Given the description of an element on the screen output the (x, y) to click on. 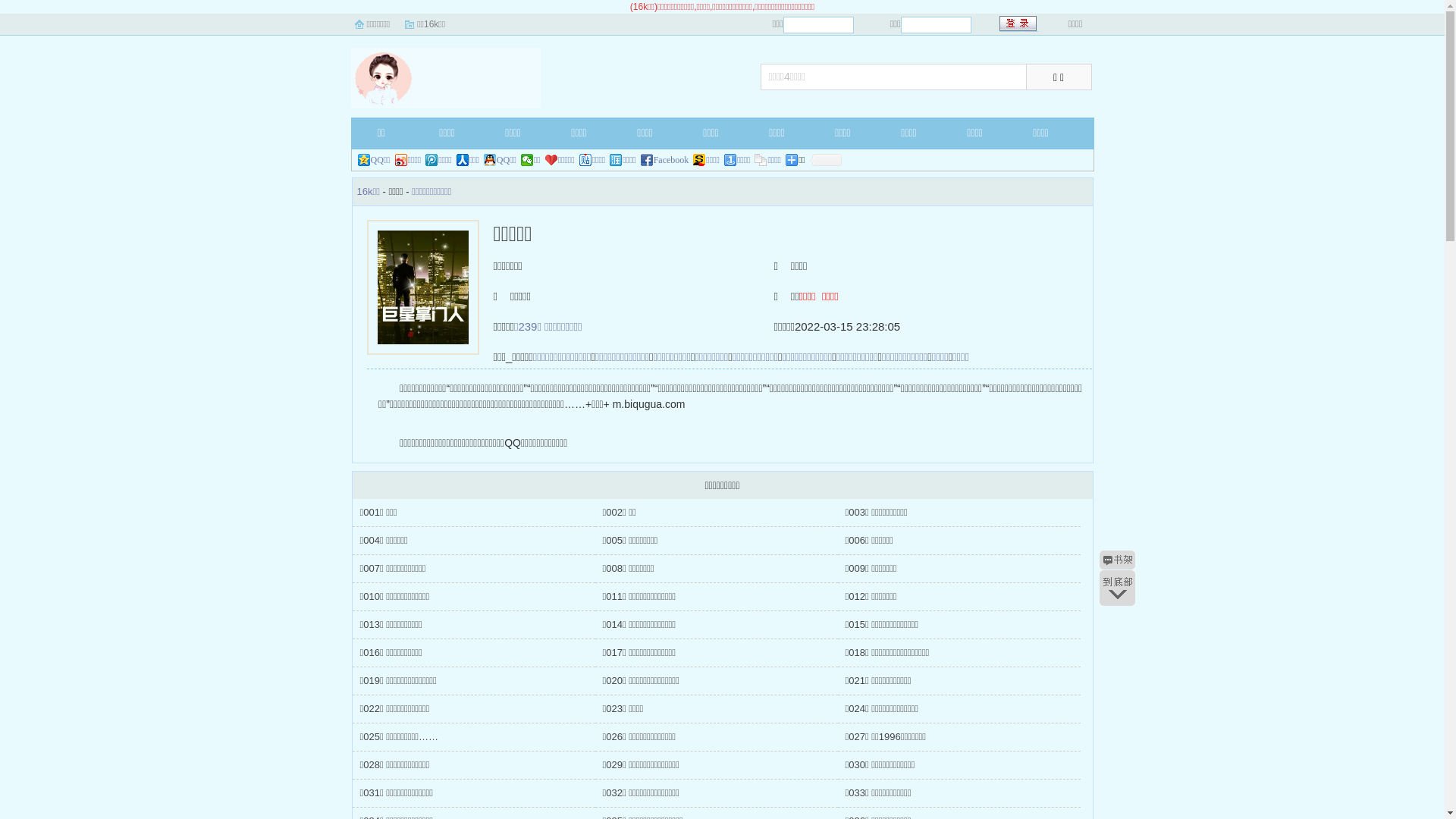
Facebook Element type: text (664, 159)
